Given the description of an element on the screen output the (x, y) to click on. 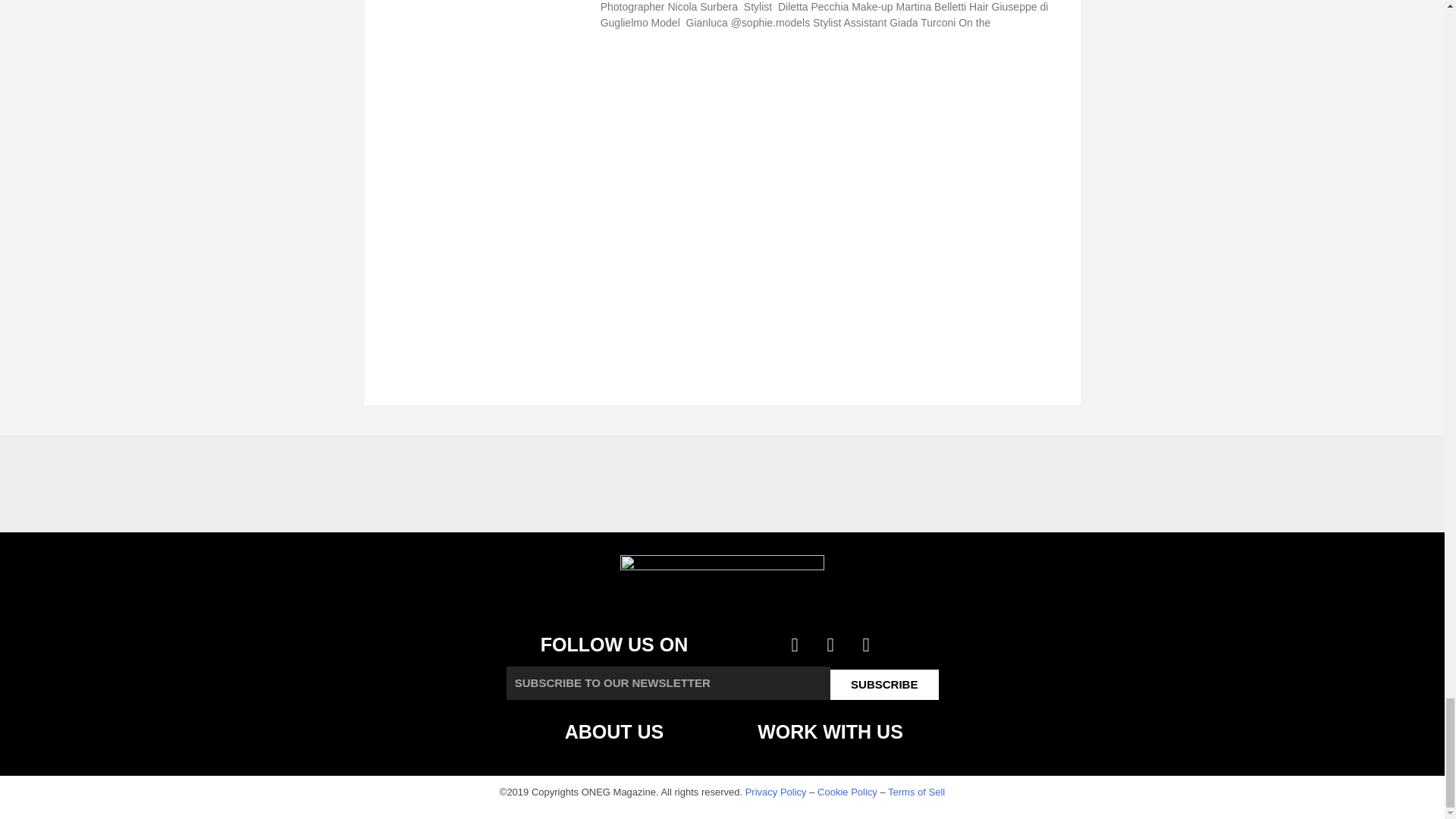
ABOUT US (613, 731)
SUBSCRIBE (884, 684)
WORK WITH US (829, 731)
Facebook-f (795, 644)
Instagram (866, 644)
Cookie Policy (846, 791)
Terms of Sell (916, 791)
Twitter (830, 644)
Privacy Policy (775, 791)
